Given the description of an element on the screen output the (x, y) to click on. 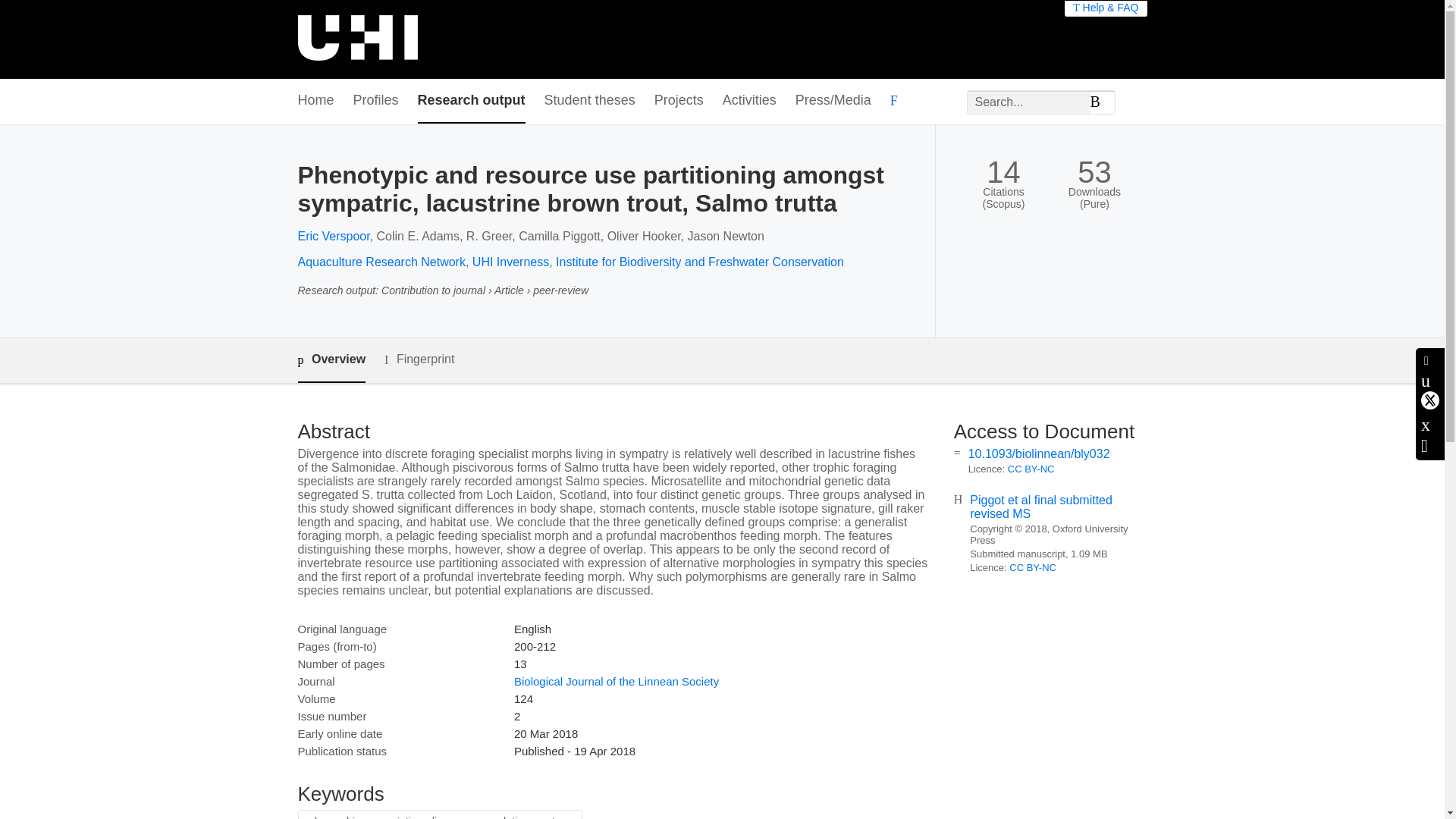
University of the Highlands and Islands Home (356, 39)
CC BY-NC (1033, 567)
Projects (678, 100)
UHI Inverness (509, 261)
Overview (331, 360)
Research output (471, 100)
Fingerprint (419, 359)
Biological Journal of the Linnean Society (616, 680)
Profiles (375, 100)
Institute for Biodiversity and Freshwater Conservation (700, 261)
Eric Verspoor (333, 236)
Home (315, 100)
Activities (749, 100)
CC BY-NC (1030, 469)
